Given the description of an element on the screen output the (x, y) to click on. 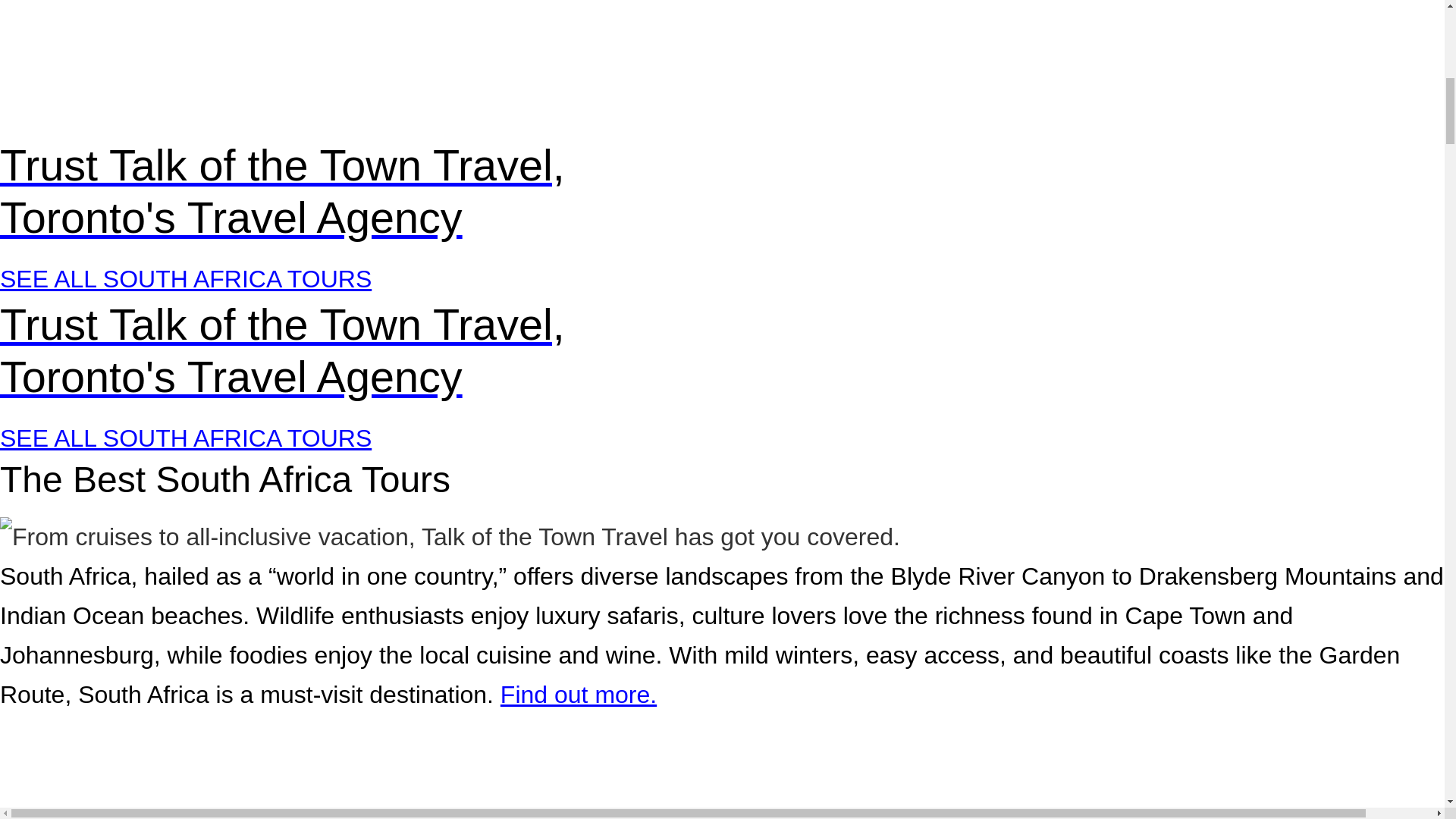
Find out more. (578, 694)
